Given the description of an element on the screen output the (x, y) to click on. 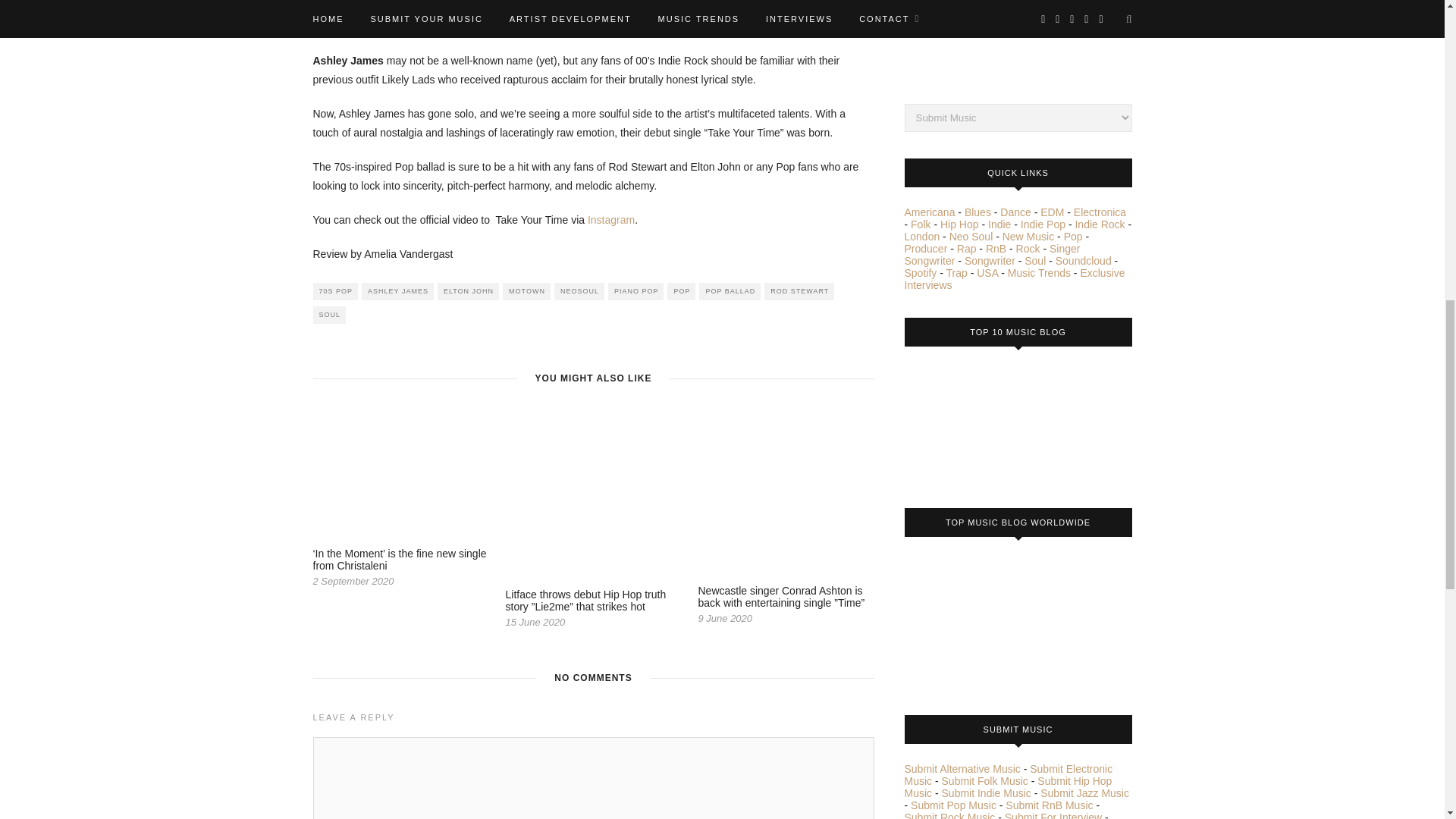
Blues (977, 212)
70S POP (335, 291)
EDM (1052, 212)
POP (680, 291)
Americana (929, 212)
MOTOWN (526, 291)
ASHLEY JAMES (397, 291)
PIANO POP (635, 291)
Top 10 Music Blog (960, 422)
Electronica (1099, 212)
